Given the description of an element on the screen output the (x, y) to click on. 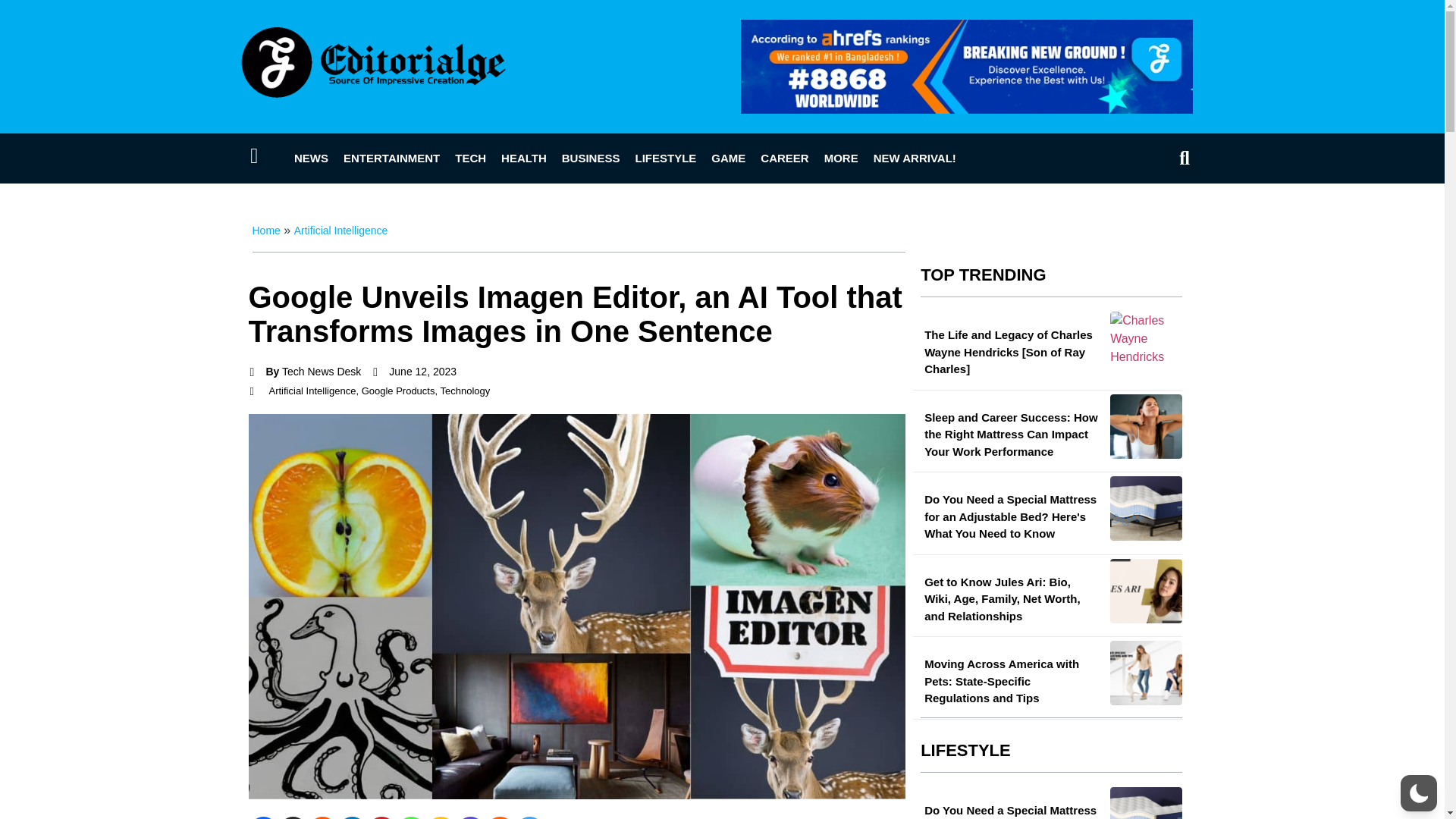
Telegram (528, 817)
Whatsapp (410, 817)
ENTERTAINMENT (391, 158)
Print (499, 817)
Pinterest (381, 817)
Facebook (263, 817)
Instagram (470, 817)
GAME (727, 158)
Copy Link (441, 817)
BUSINESS (590, 158)
